Given the description of an element on the screen output the (x, y) to click on. 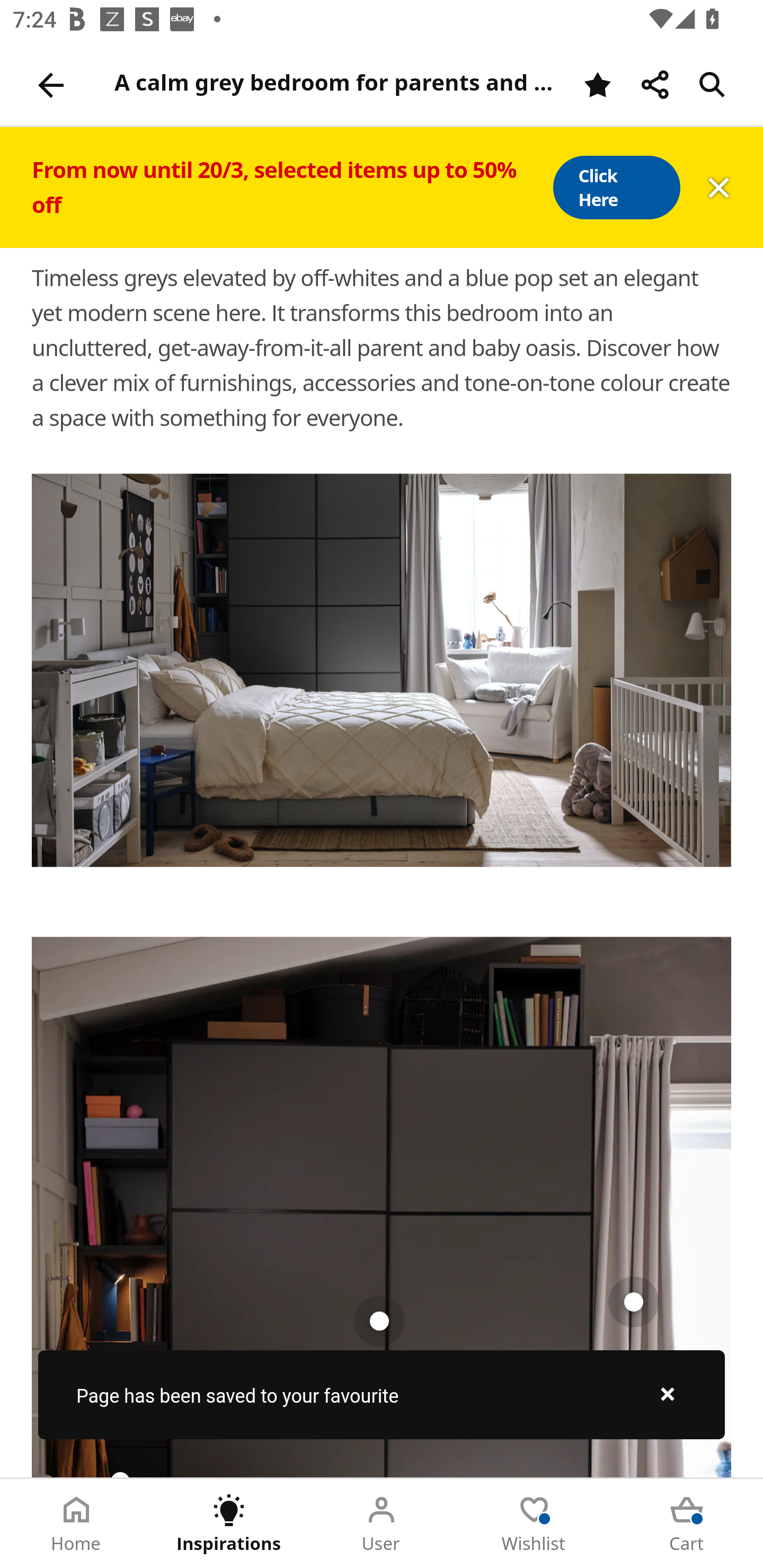
Click Here (615, 187)
Page has been saved to your favourite (381, 1394)
Home
Tab 1 of 5 (76, 1522)
Inspirations
Tab 2 of 5 (228, 1522)
User
Tab 3 of 5 (381, 1522)
Wishlist
Tab 4 of 5 (533, 1522)
Cart
Tab 5 of 5 (686, 1522)
